Given the description of an element on the screen output the (x, y) to click on. 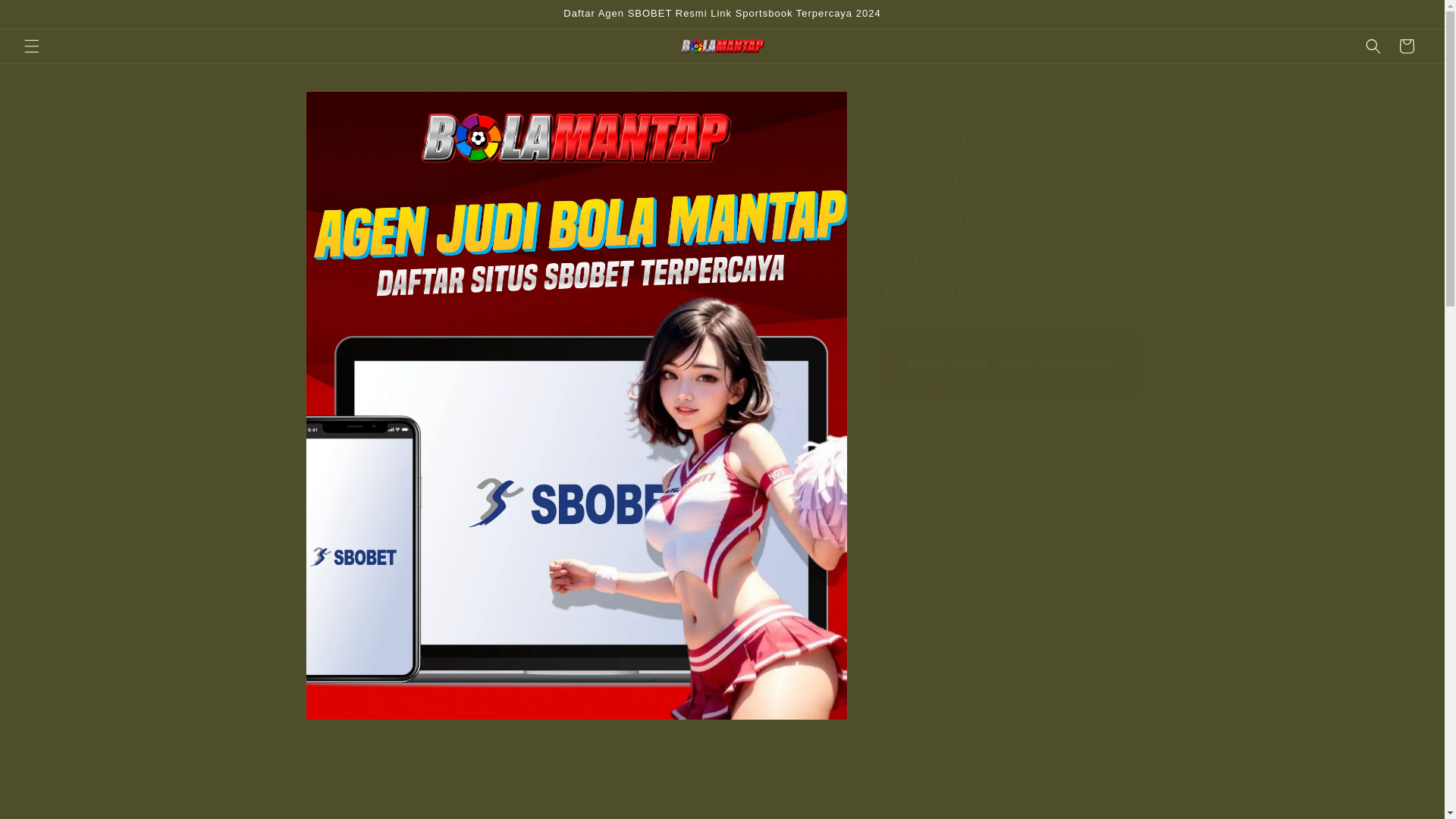
Skip to product information (350, 108)
Skip to content (45, 17)
Cart (1406, 46)
Bolamantap (912, 416)
daftar bolamantap (1008, 362)
